Given the description of an element on the screen output the (x, y) to click on. 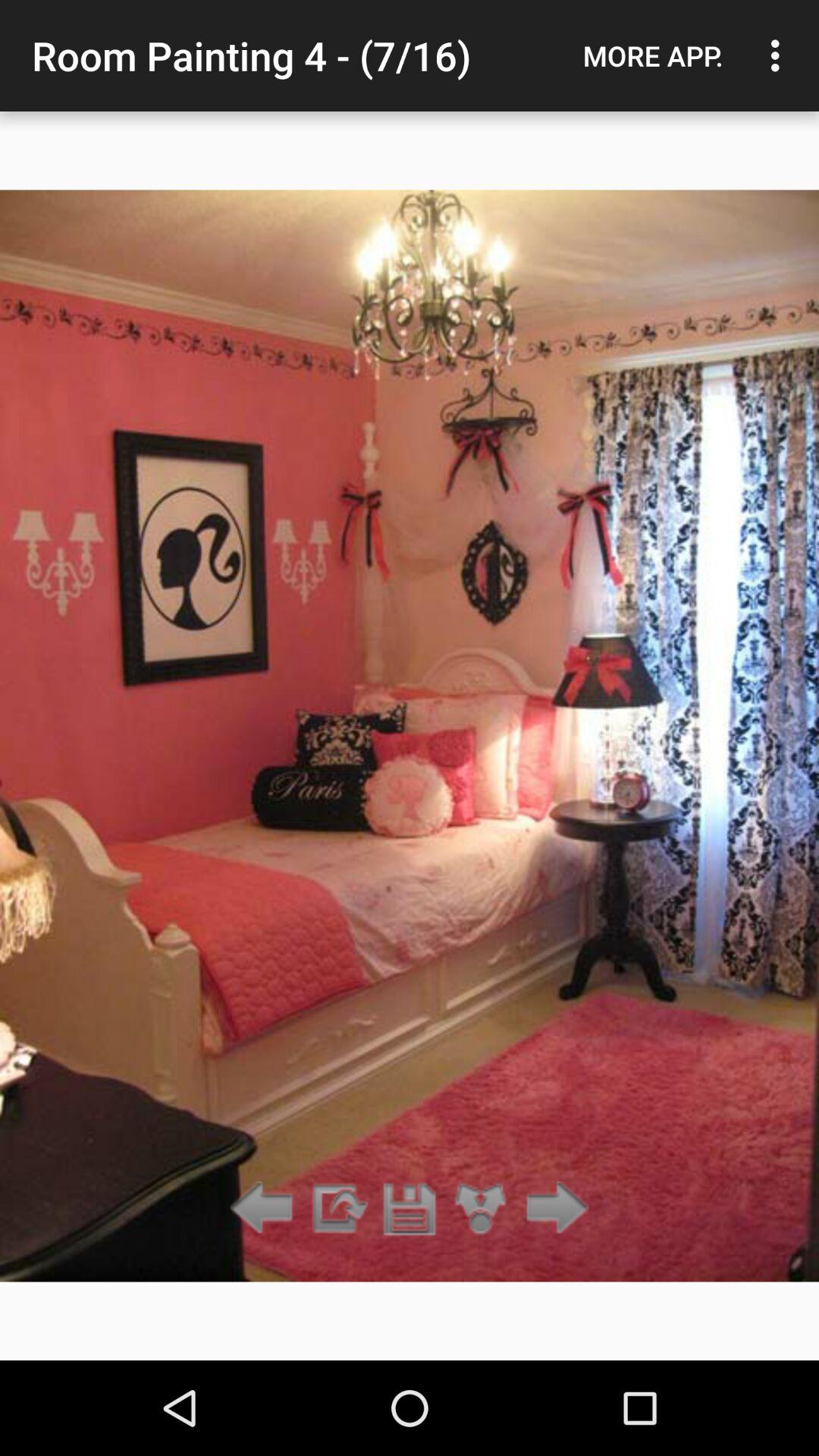
forward (337, 1208)
